Given the description of an element on the screen output the (x, y) to click on. 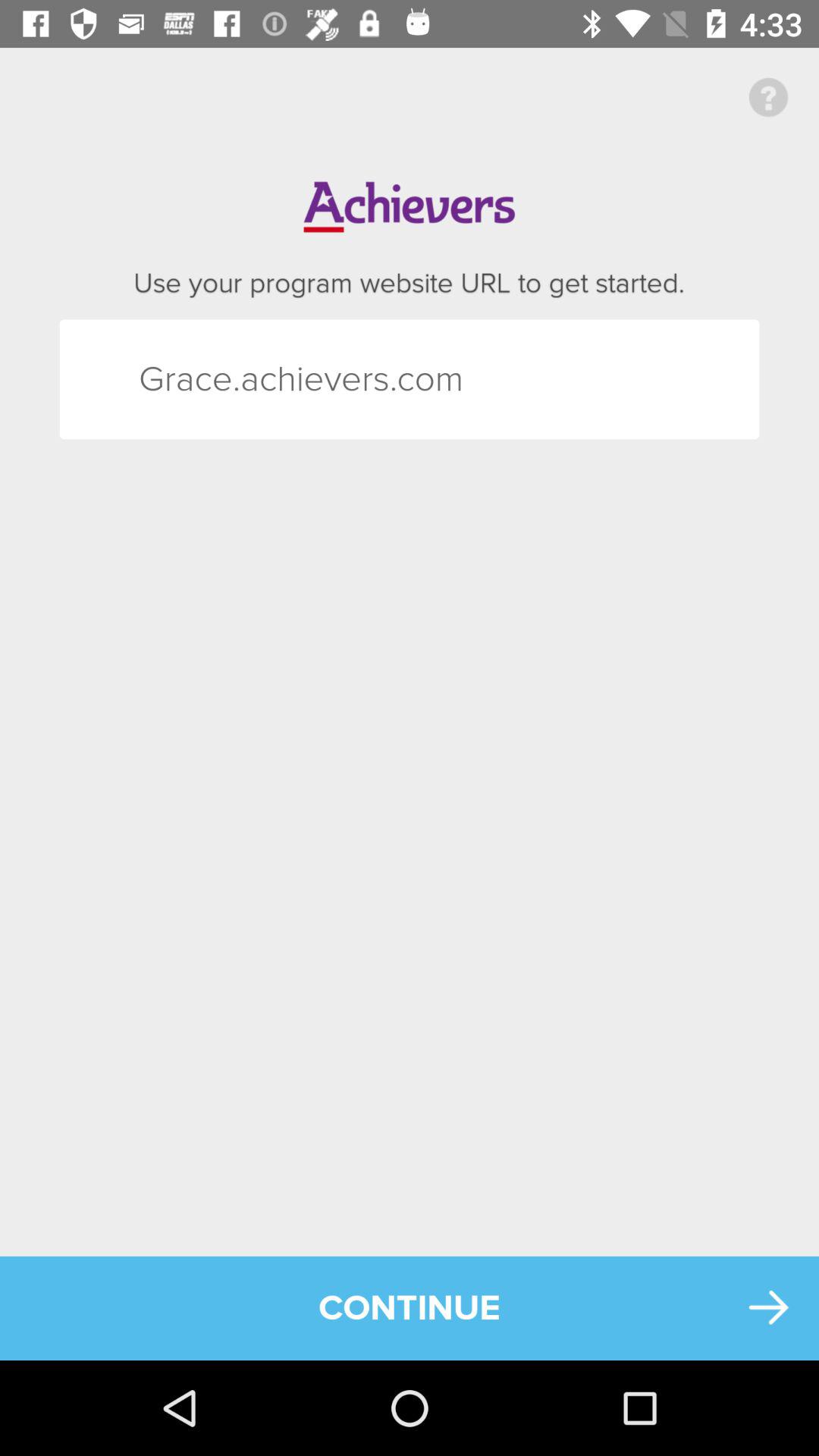
choose the icon at the top left corner (165, 379)
